Given the description of an element on the screen output the (x, y) to click on. 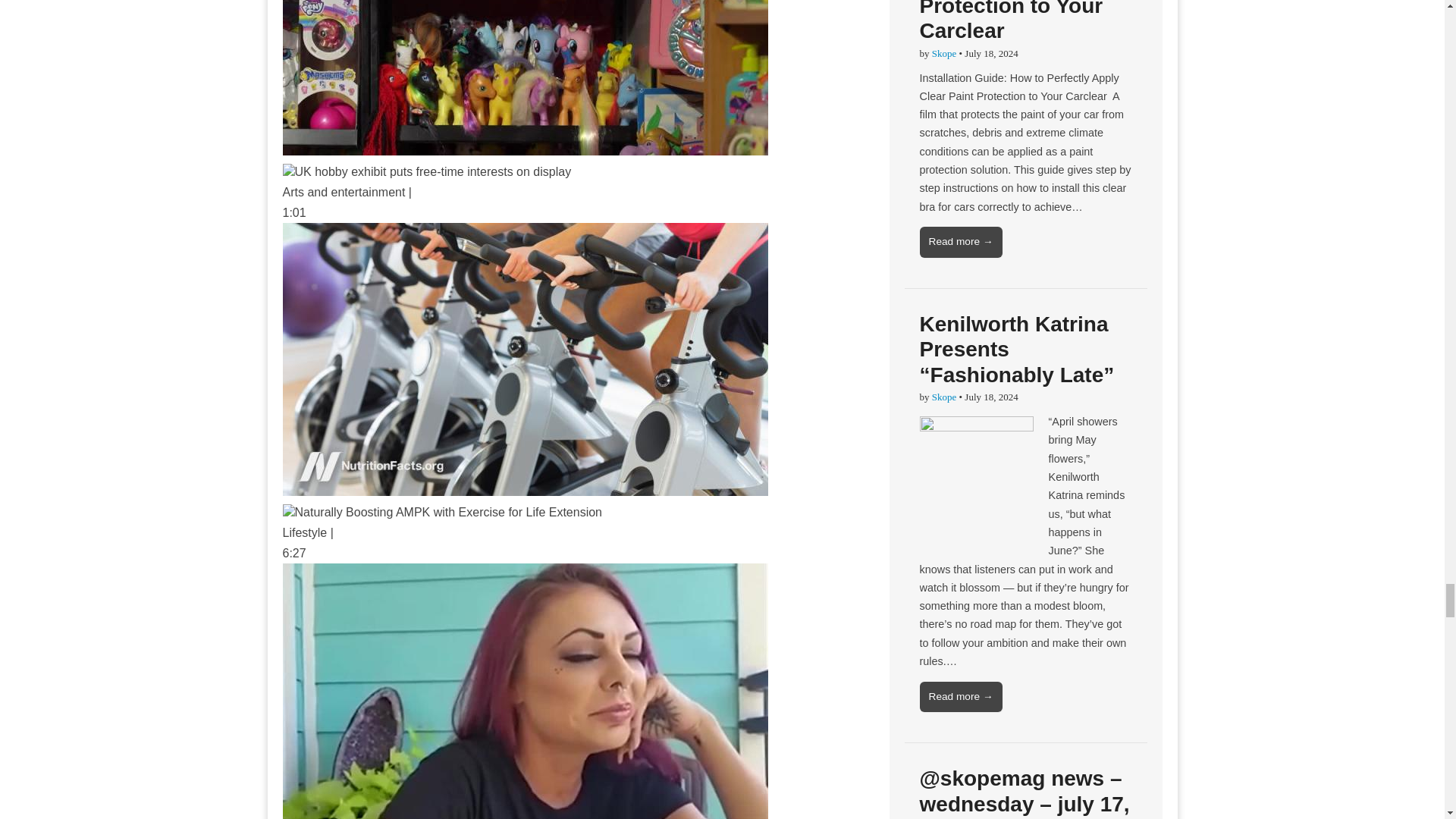
Posts by Skope (943, 396)
Posts by Skope (943, 52)
